Given the description of an element on the screen output the (x, y) to click on. 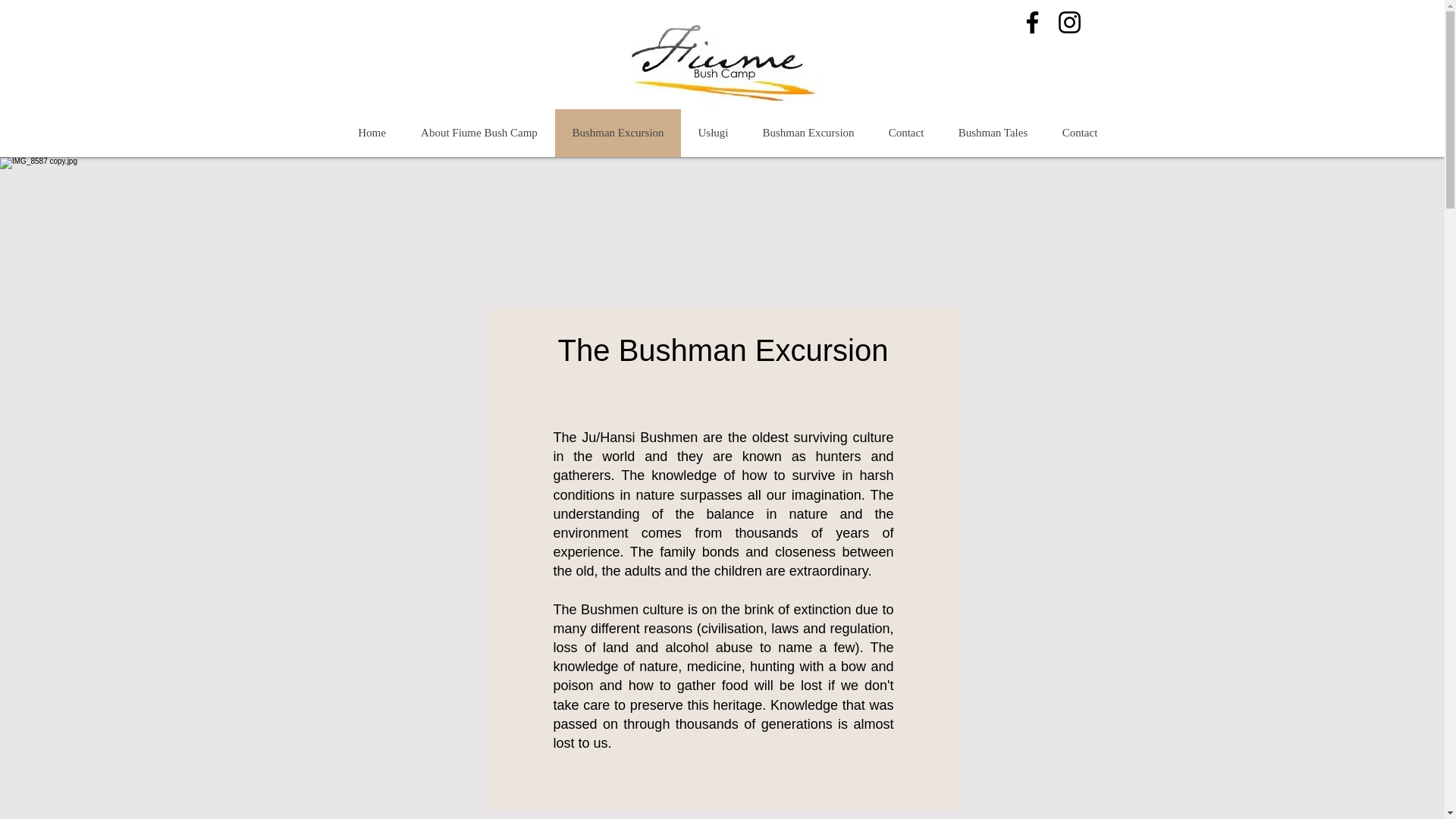
Bushman Excursion (807, 132)
Home (371, 132)
Contact (905, 132)
About Fiume Bush Camp (478, 132)
Contact (1080, 132)
Bushman Excursion (617, 132)
Bushman Tales (991, 132)
